Given the description of an element on the screen output the (x, y) to click on. 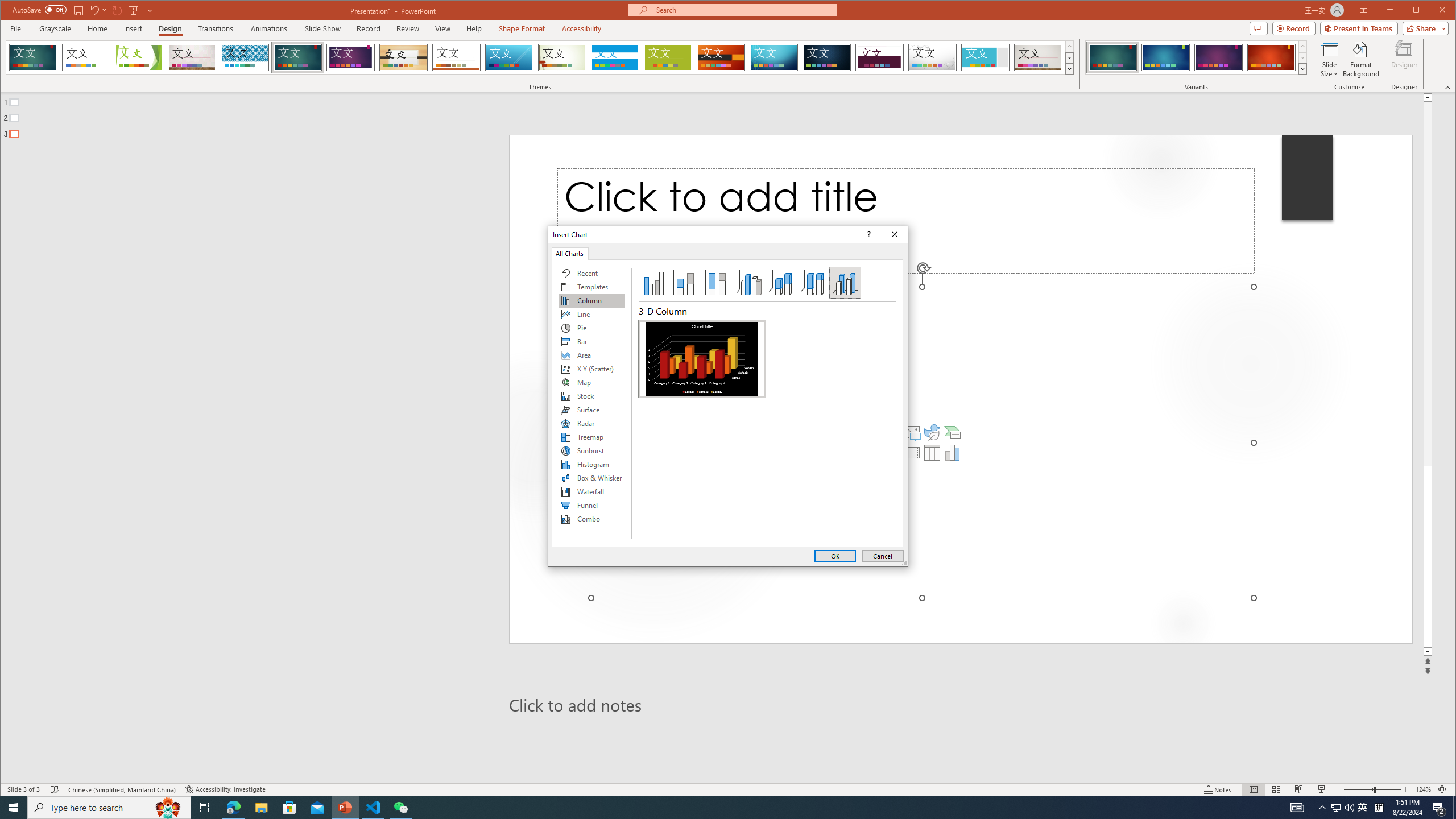
Ion Variant 3 (1218, 57)
3-D Column (701, 358)
Chart Types (591, 403)
